Given the description of an element on the screen output the (x, y) to click on. 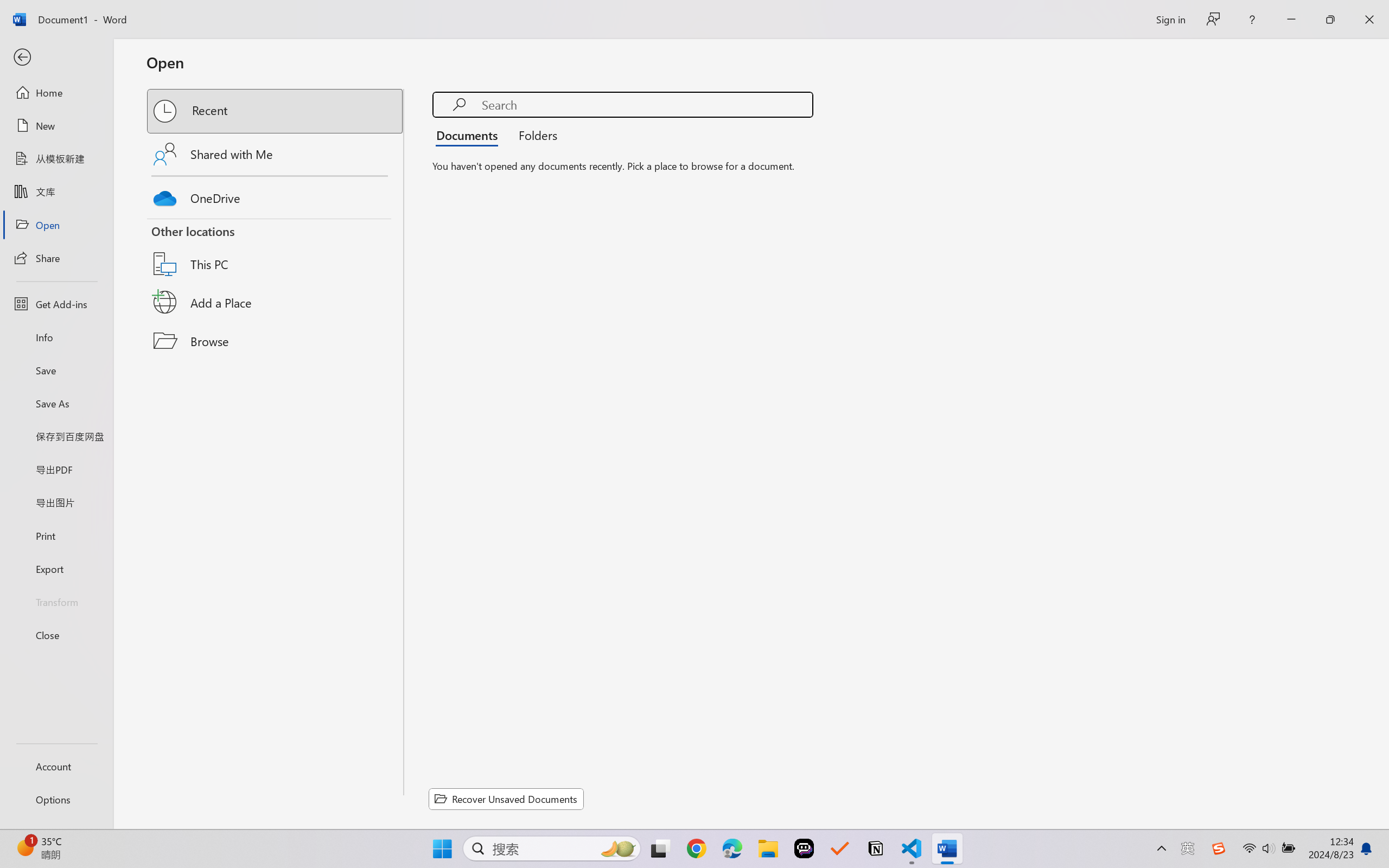
Recover Unsaved Documents (506, 798)
Browse (275, 340)
Export (56, 568)
New (56, 125)
Back (56, 57)
Recent (275, 110)
Shared with Me (275, 153)
Account (56, 765)
